Given the description of an element on the screen output the (x, y) to click on. 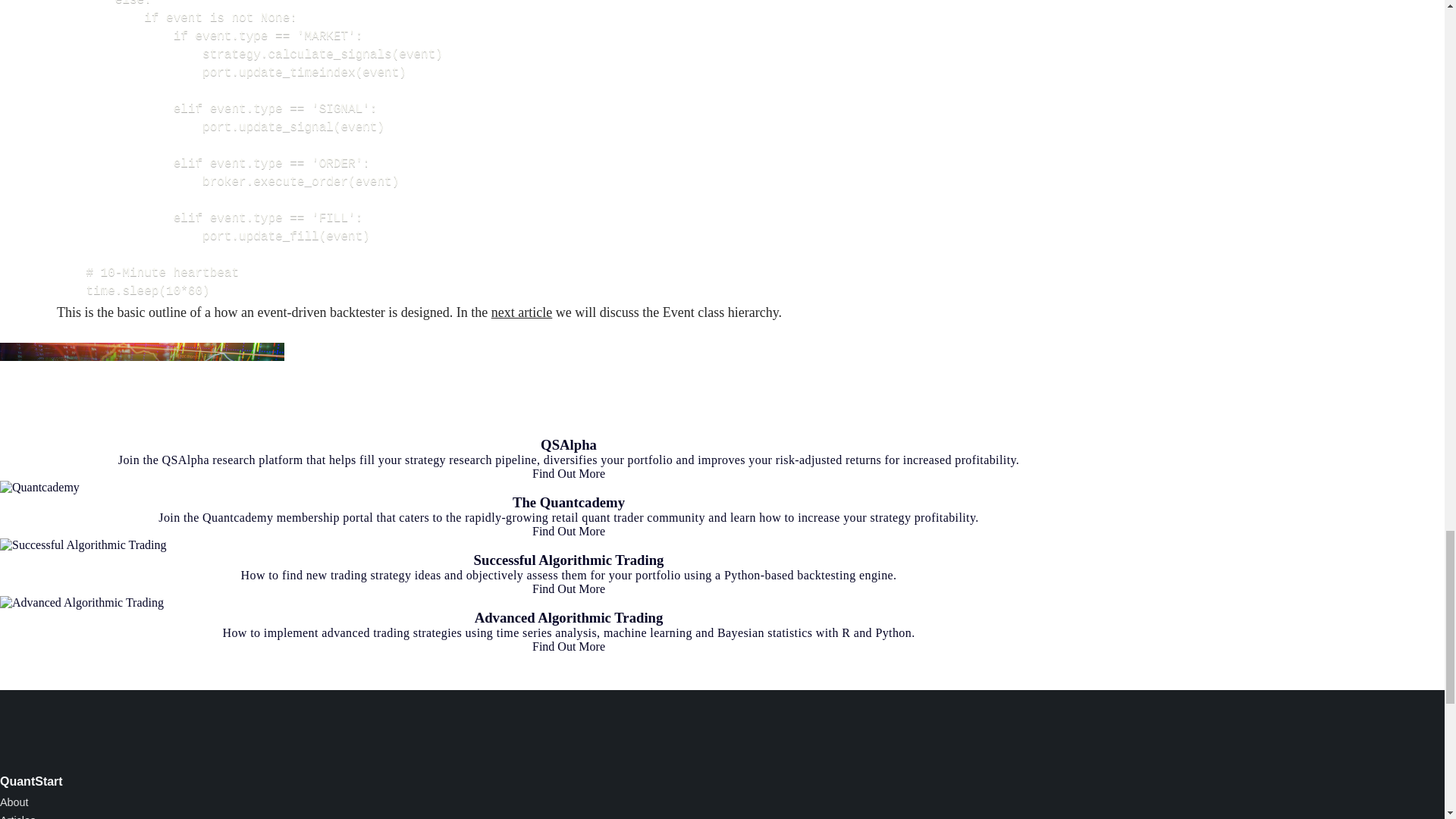
The Quantcademy (568, 502)
Advanced Algorithmic Trading (568, 617)
Find Out More (568, 530)
Successful Algorithmic Trading (568, 560)
Find Out More (568, 588)
Find Out More (568, 472)
About (14, 802)
next article (521, 312)
Find Out More (568, 645)
Articles (17, 816)
